Given the description of an element on the screen output the (x, y) to click on. 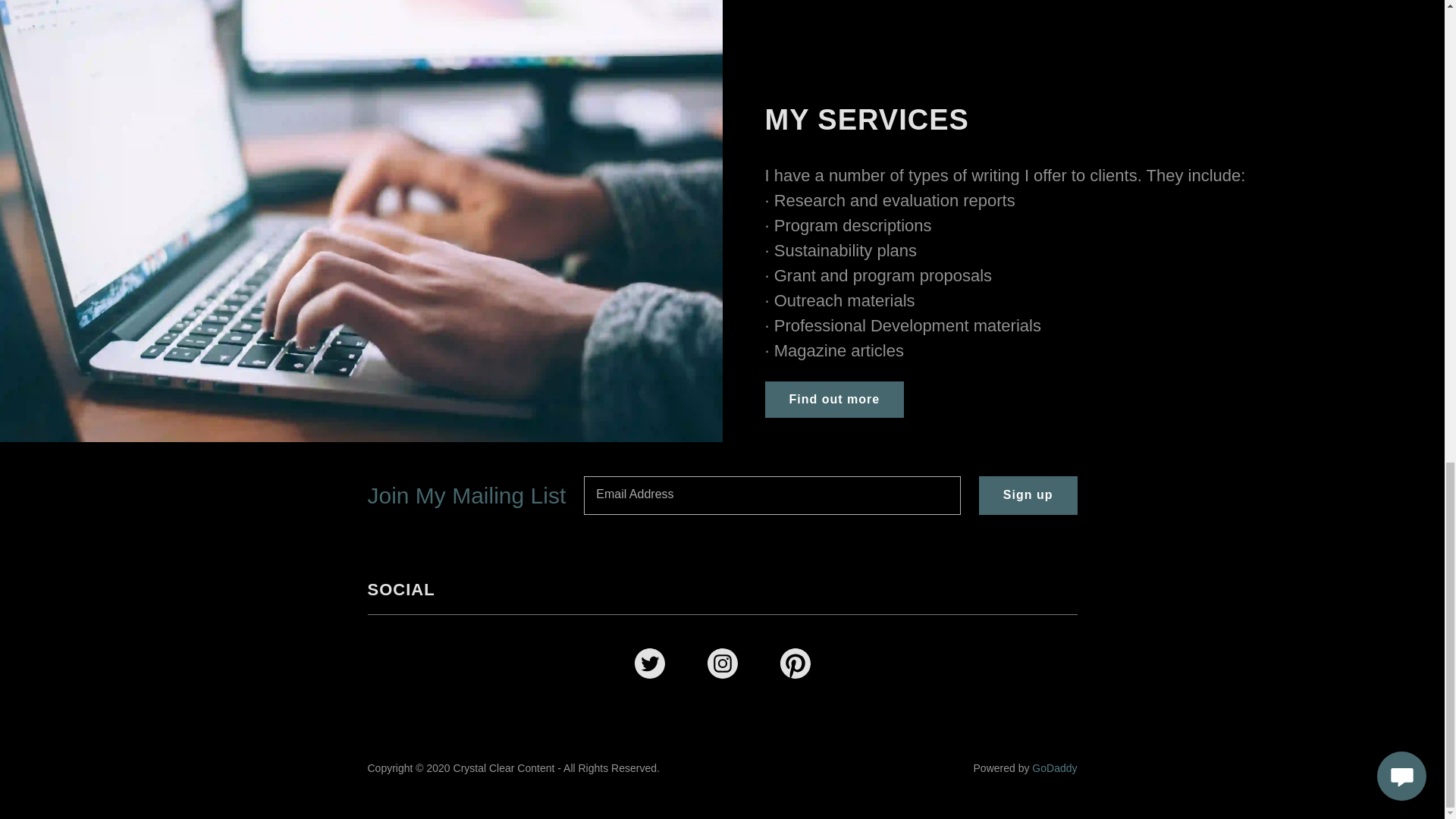
Sign up (1027, 495)
Find out more (834, 399)
GoDaddy (1054, 767)
